Given the description of an element on the screen output the (x, y) to click on. 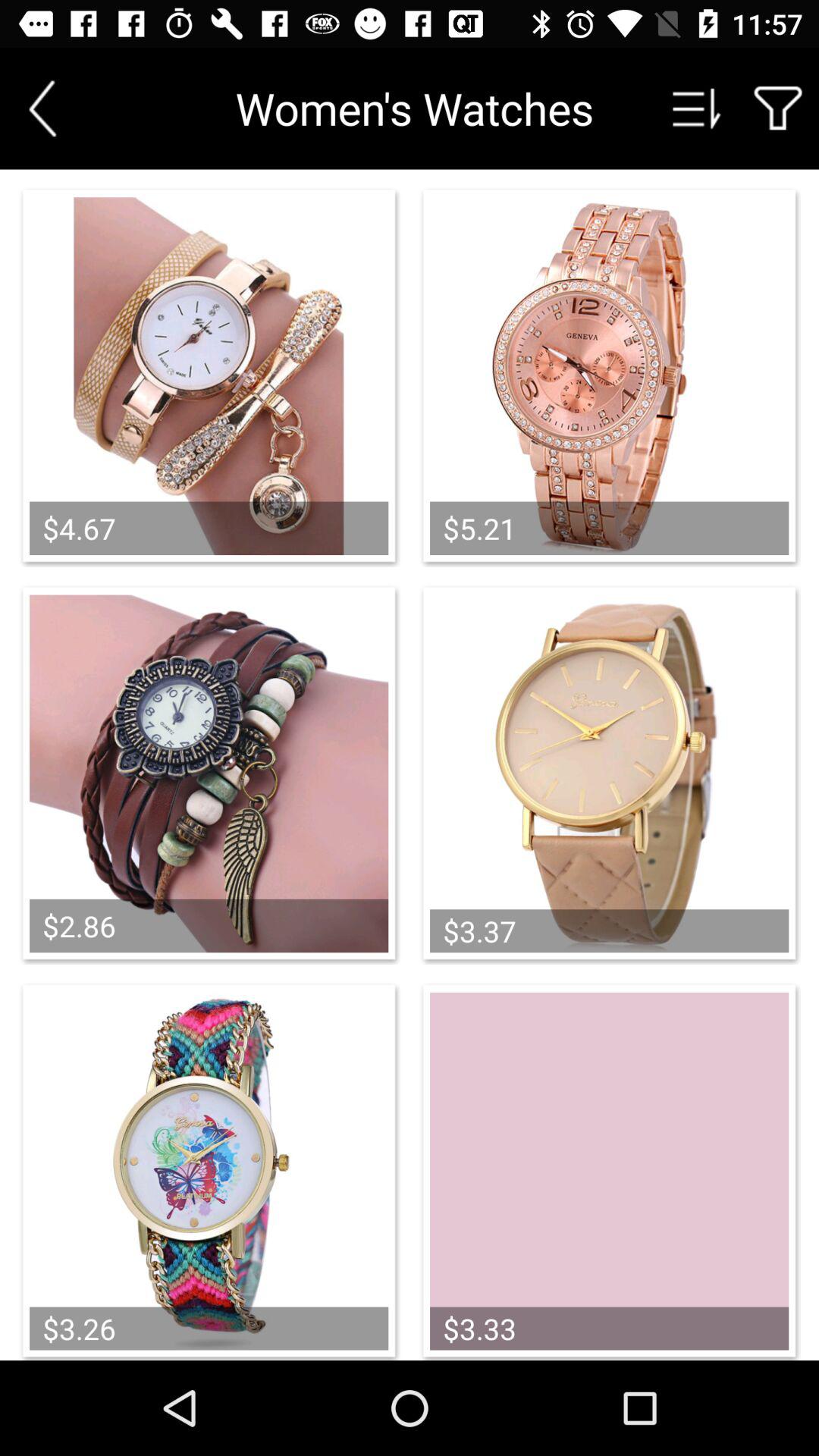
go back (42, 108)
